Given the description of an element on the screen output the (x, y) to click on. 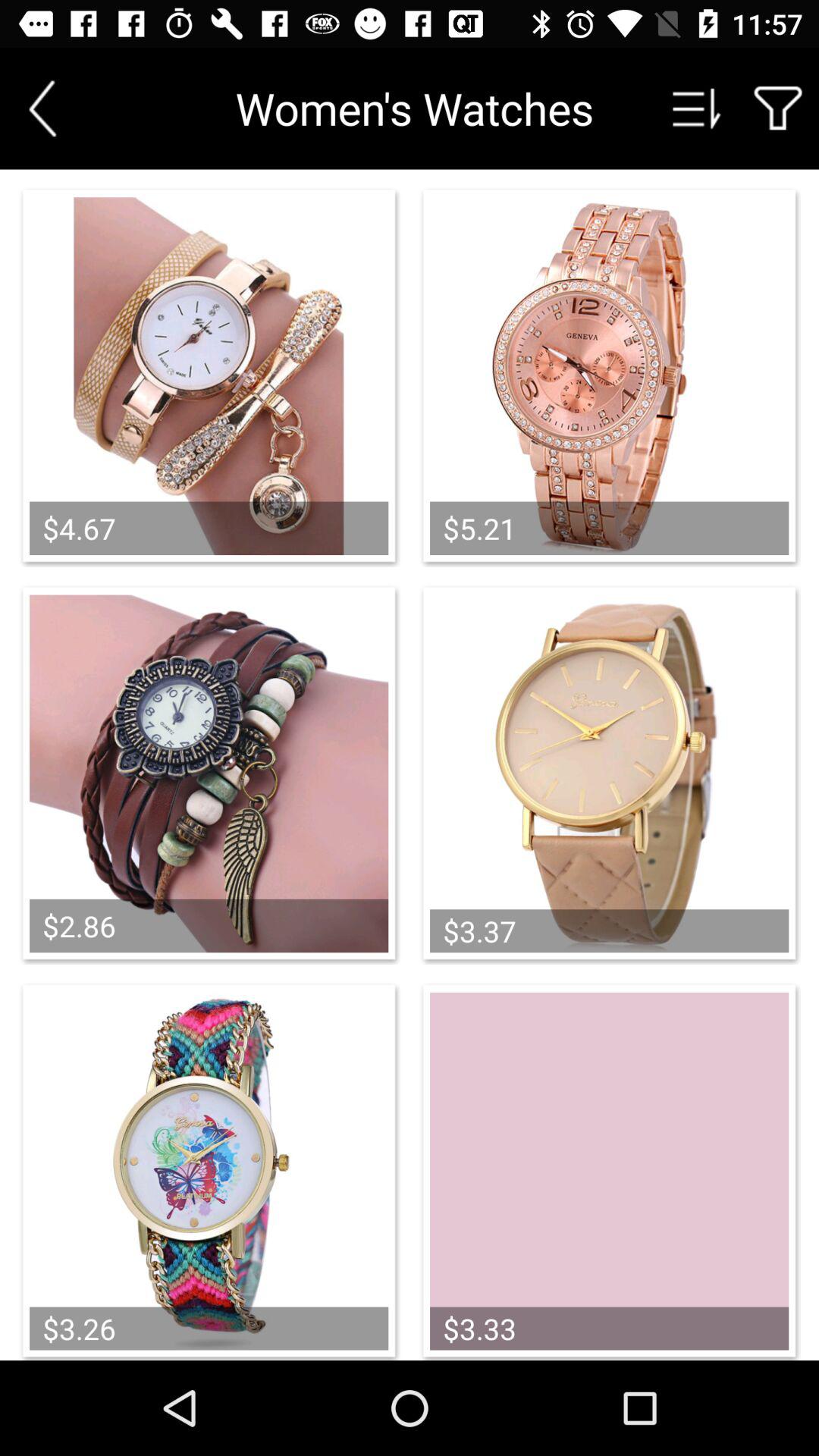
go back (42, 108)
